Given the description of an element on the screen output the (x, y) to click on. 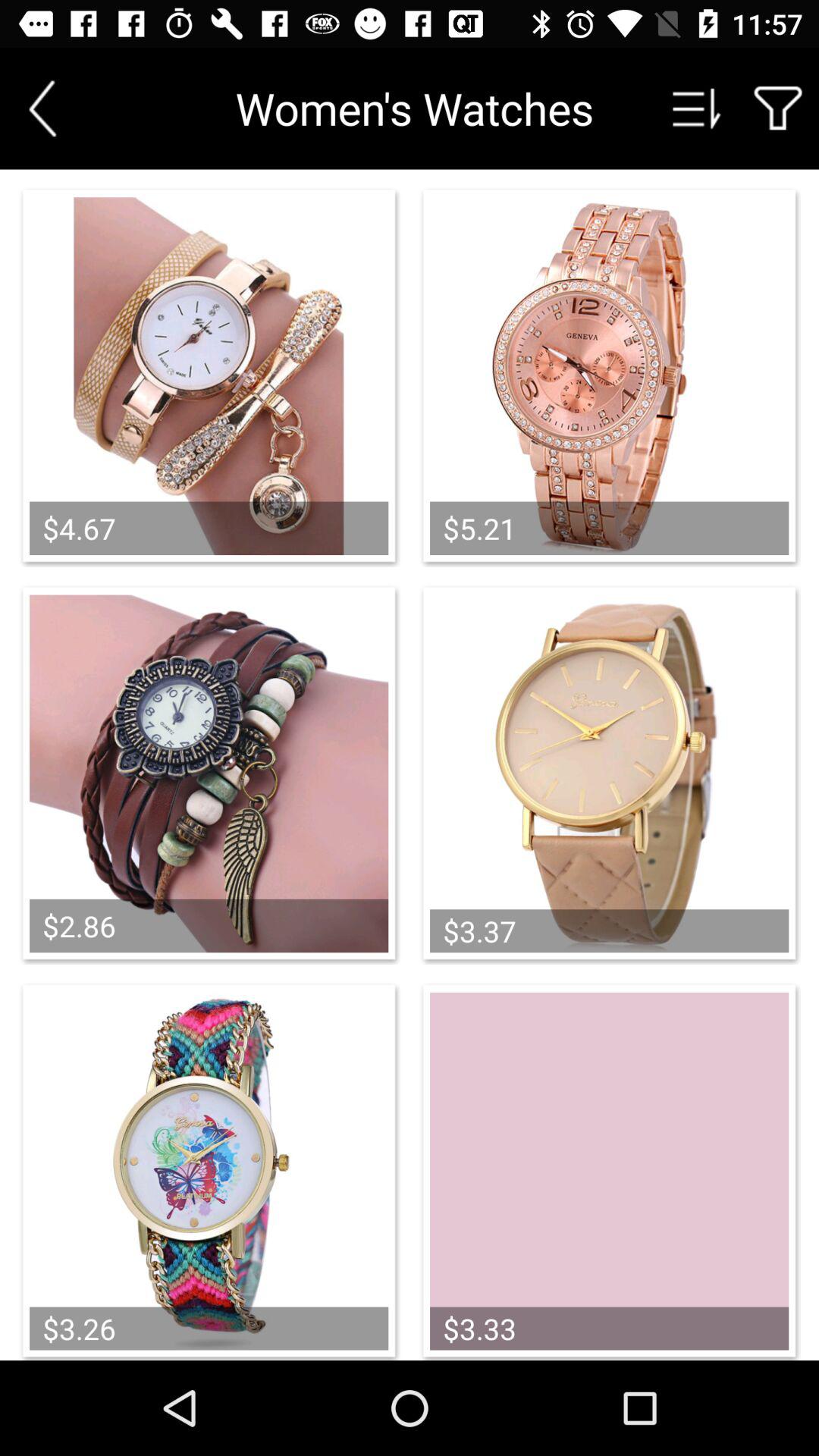
go back (42, 108)
